Given the description of an element on the screen output the (x, y) to click on. 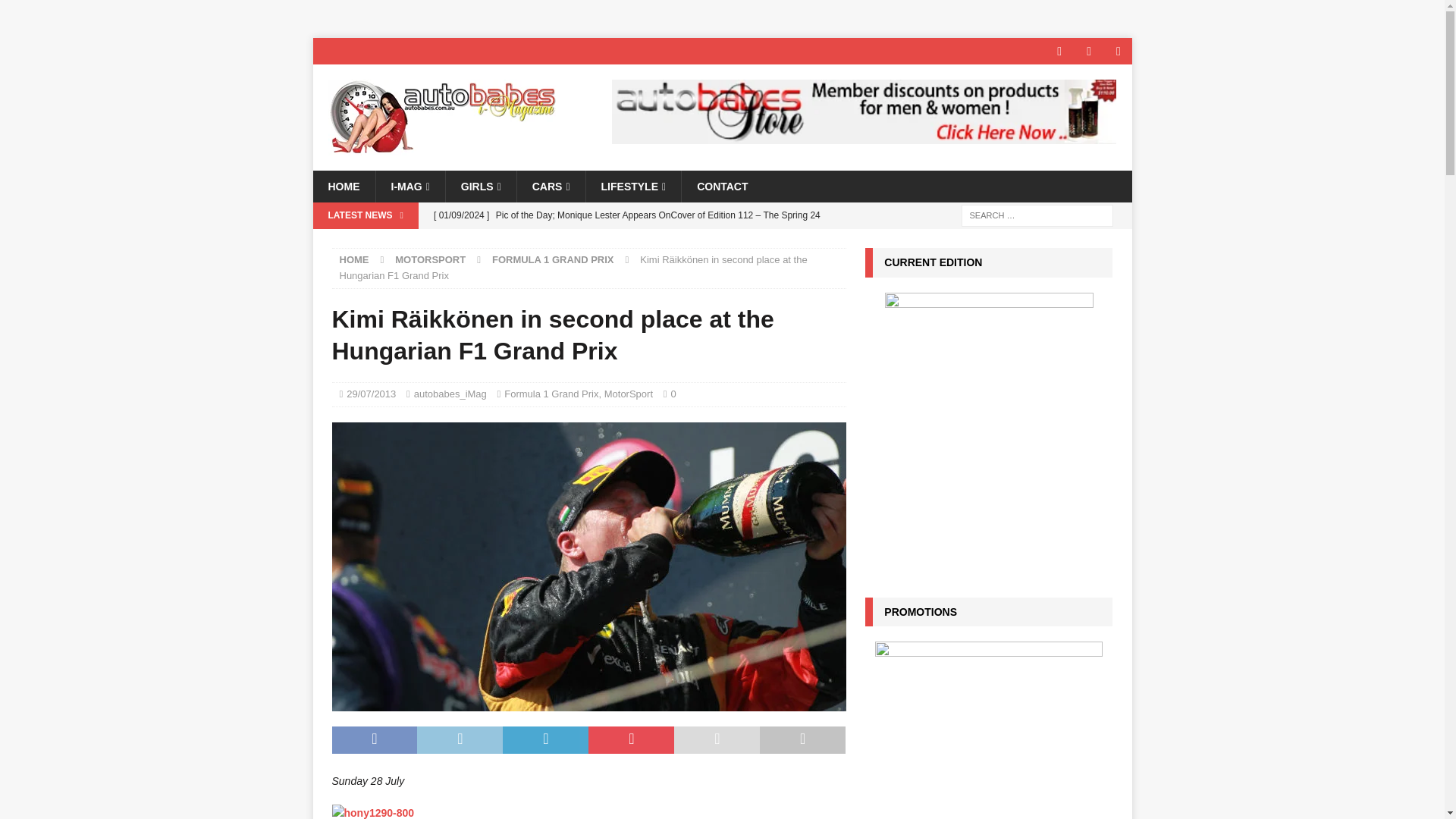
GIRLS (480, 186)
LIFESTYLE (633, 186)
HOME (343, 186)
CARS (550, 186)
I-MAG (409, 186)
